Given the description of an element on the screen output the (x, y) to click on. 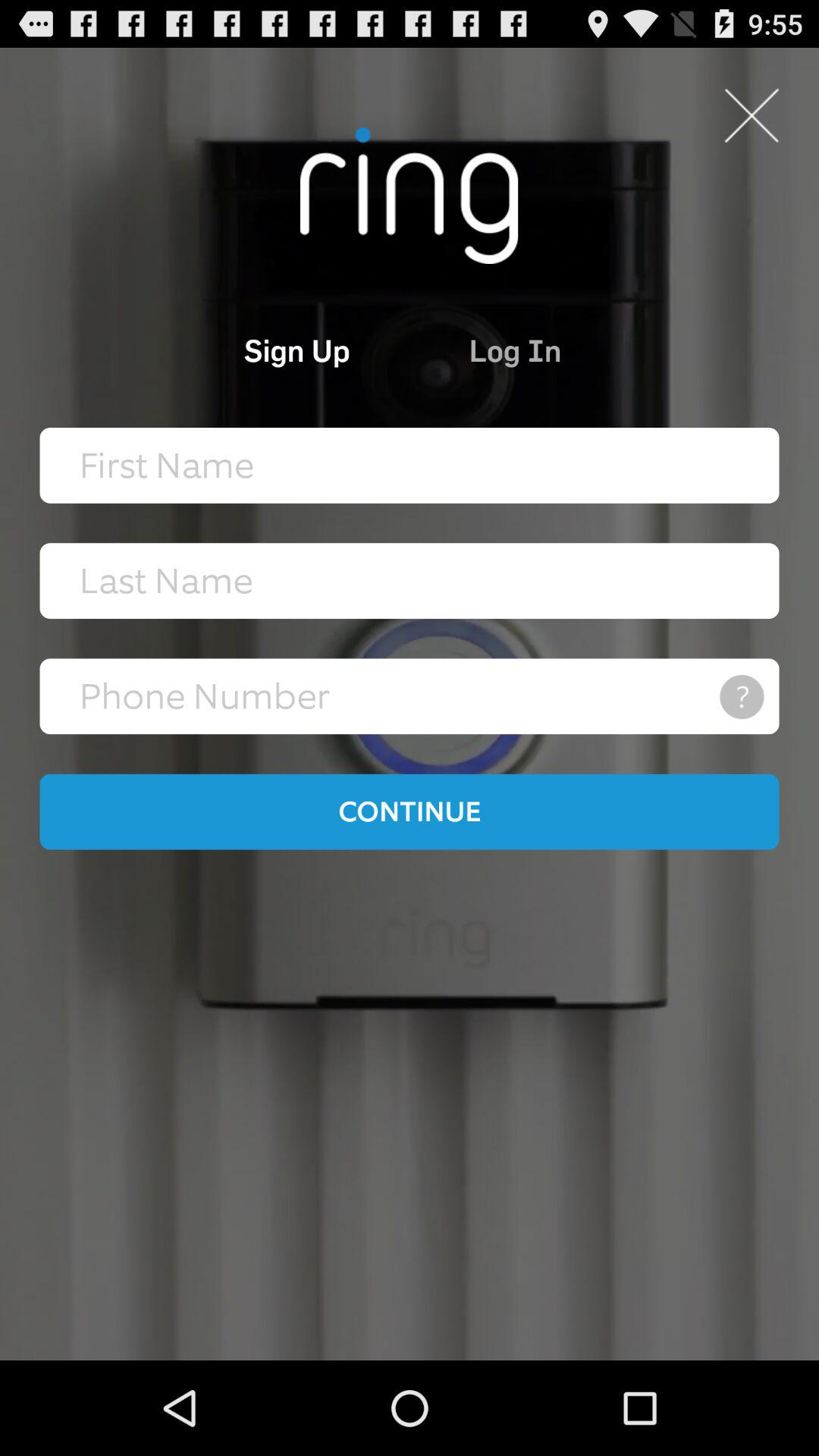
turn on item next to sign up item (584, 349)
